Given the description of an element on the screen output the (x, y) to click on. 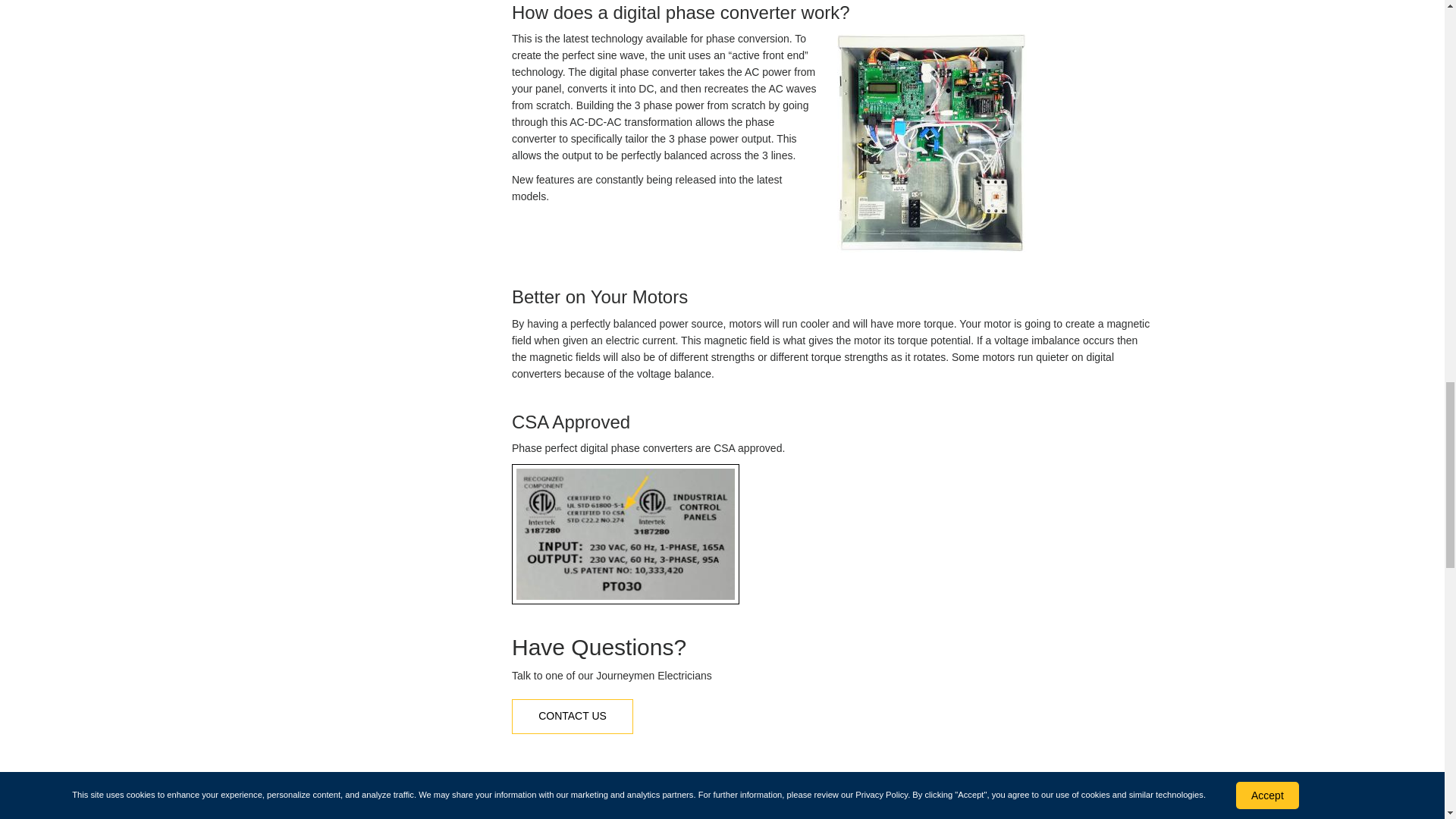
CONTACT US (572, 716)
